Given the description of an element on the screen output the (x, y) to click on. 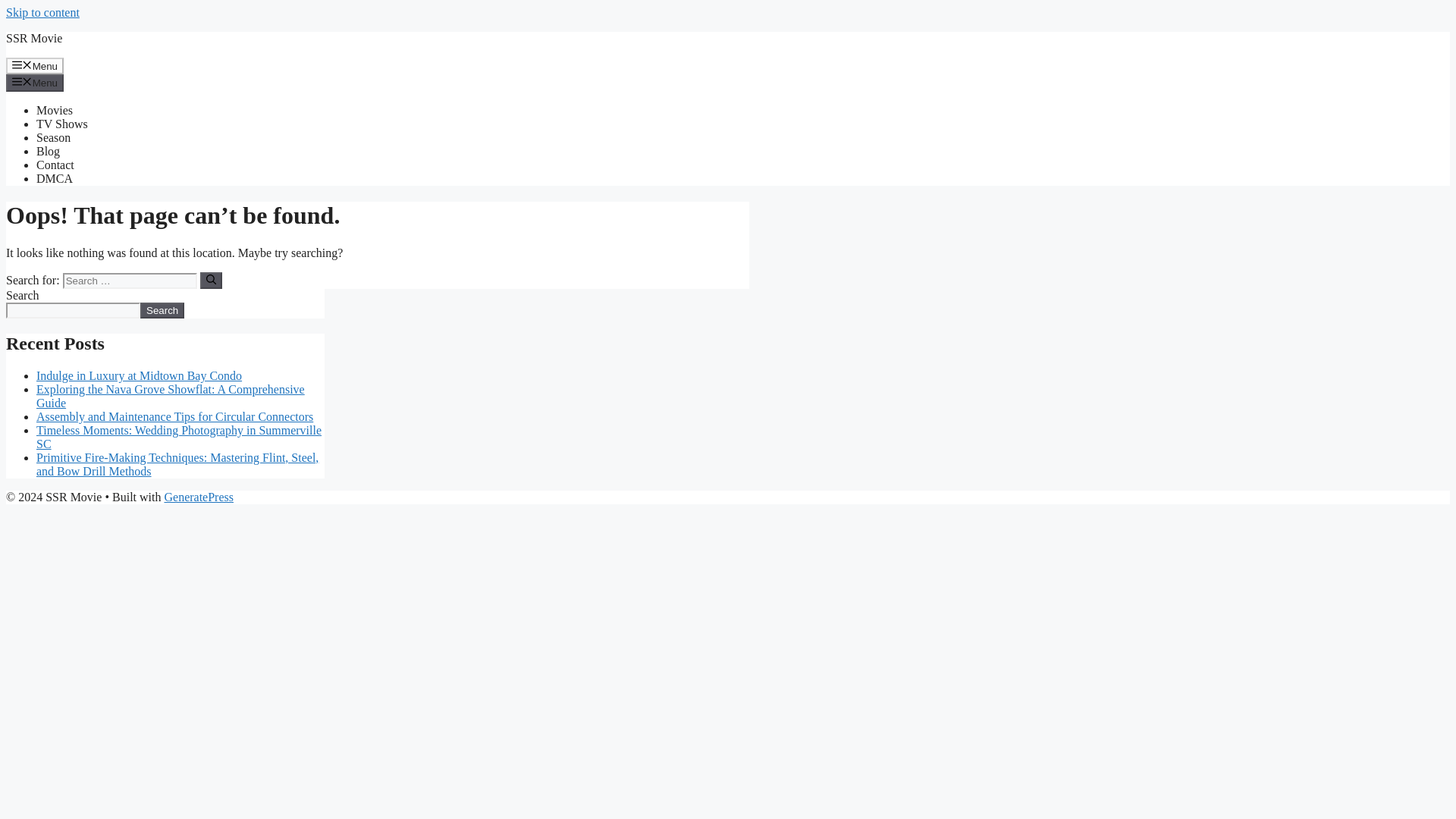
Exploring the Nava Grove Showflat: A Comprehensive Guide (170, 396)
TV Shows (61, 123)
Skip to content (42, 11)
Menu (34, 65)
Search (161, 310)
Skip to content (42, 11)
Blog (47, 151)
DMCA (54, 178)
Indulge in Luxury at Midtown Bay Condo (138, 375)
